Given the description of an element on the screen output the (x, y) to click on. 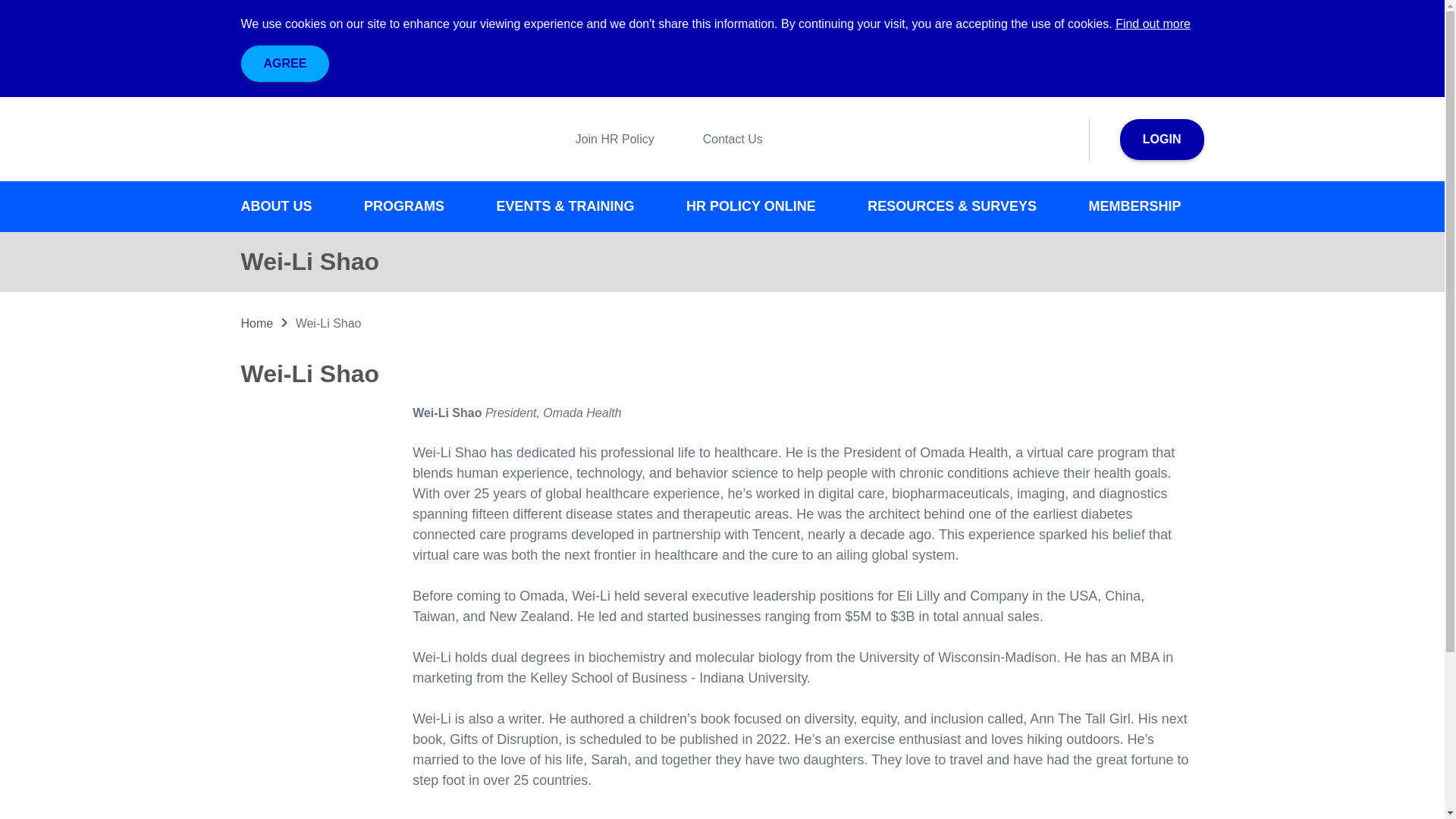
PROGRAMS (415, 205)
Agree (285, 63)
Contact Us (719, 139)
ABOUT US (287, 205)
Join HR Policy (601, 139)
LOGIN (1161, 138)
Agree (285, 63)
Find out more (1153, 23)
